Given the description of an element on the screen output the (x, y) to click on. 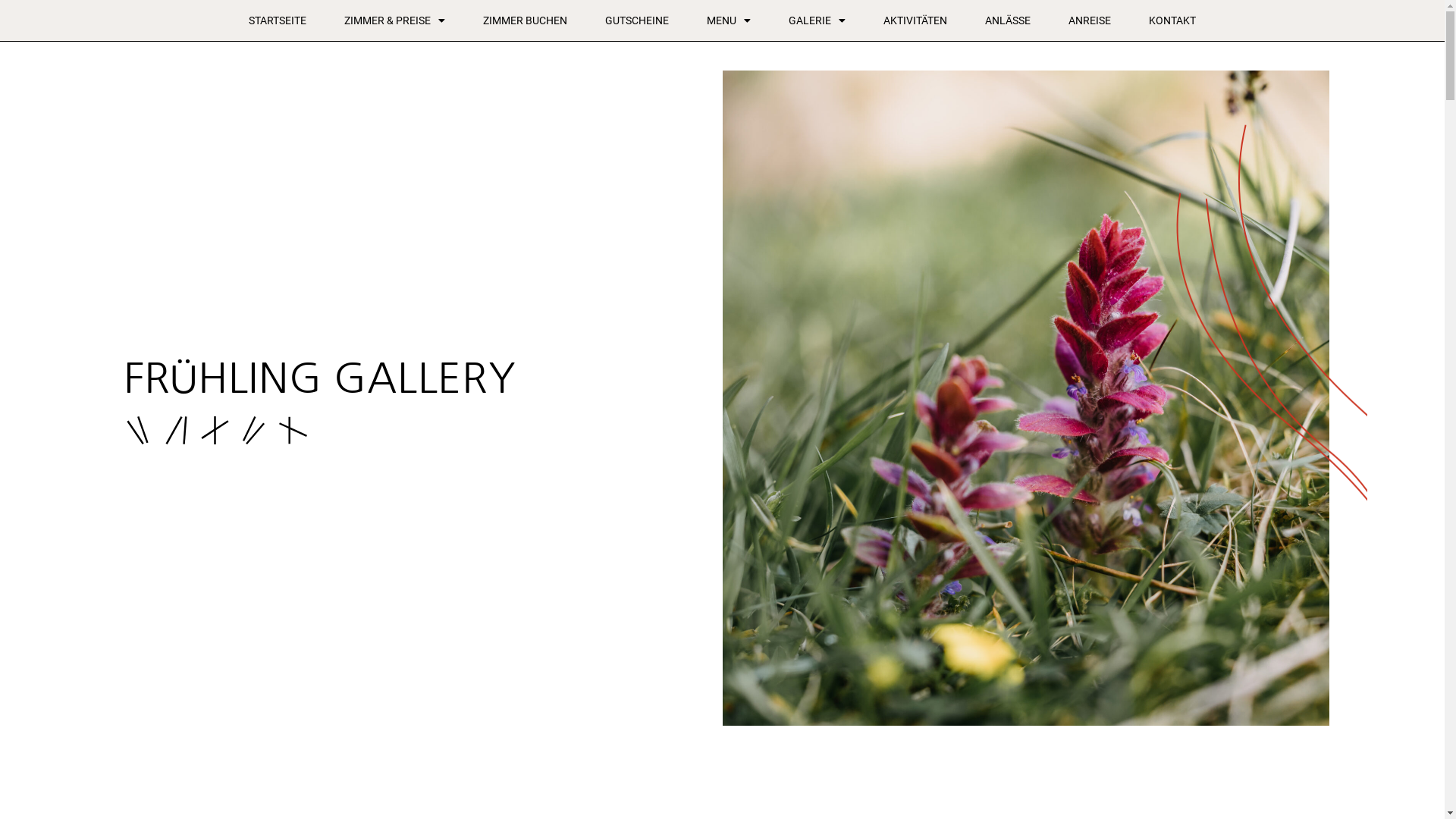
GUTSCHEINE Element type: text (636, 20)
STARTSEITE Element type: text (277, 20)
GALERIE Element type: text (816, 20)
KONTAKT Element type: text (1171, 20)
ANREISE Element type: text (1089, 20)
MENU Element type: text (728, 20)
ZIMMER BUCHEN Element type: text (525, 20)
ZIMMER & PREISE Element type: text (394, 20)
